Given the description of an element on the screen output the (x, y) to click on. 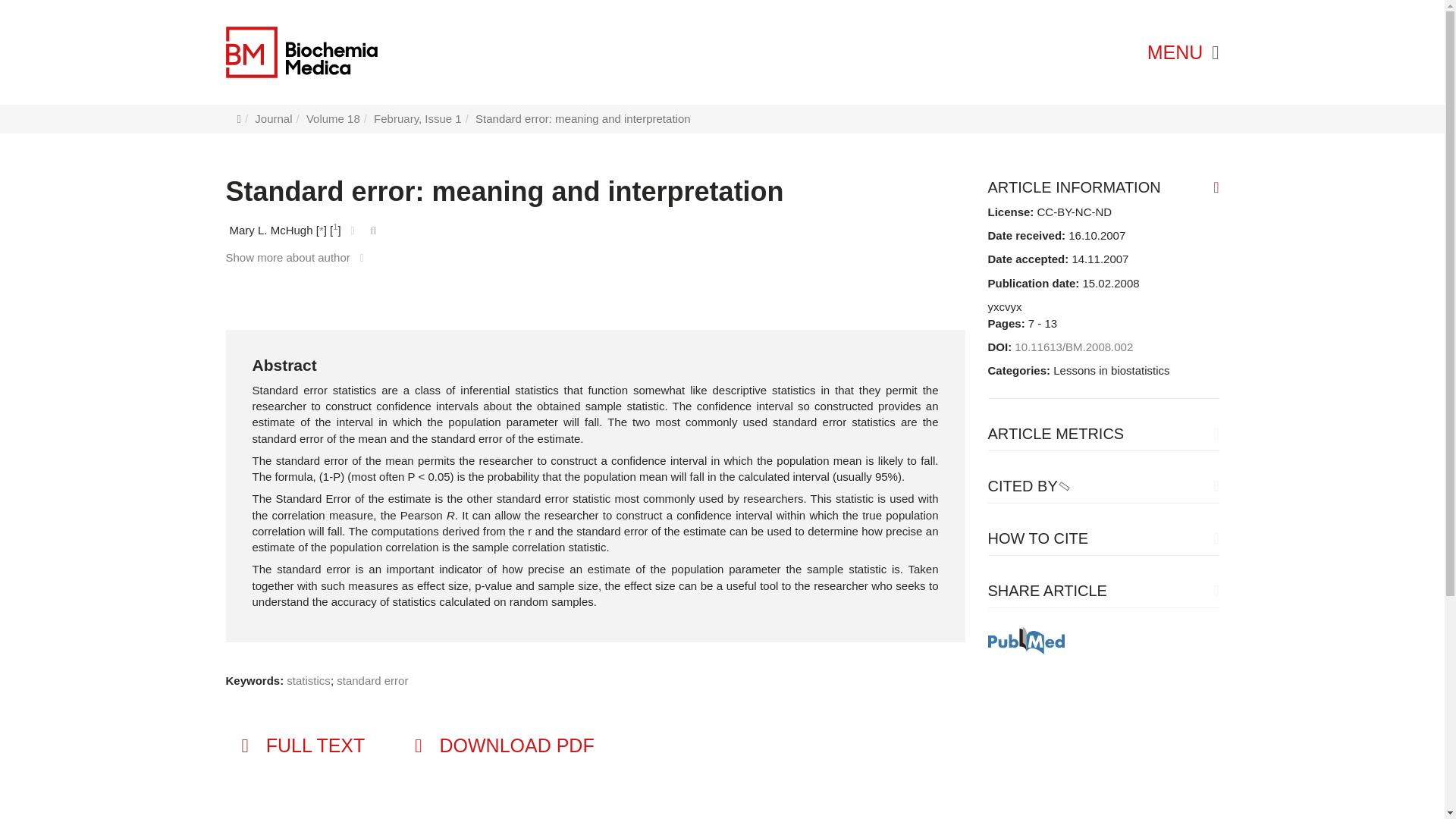
Show more about author (298, 256)
Biochemia Medica (301, 51)
standard error (371, 680)
February, Issue 1 (417, 118)
ARTICLE INFORMATION (1102, 187)
FULL TEXT (301, 746)
statistics (308, 680)
Journal (273, 118)
Search articles by keyword: statistics (308, 680)
Volume 18 (332, 118)
MENU (1183, 52)
Biochemia Medica (341, 51)
Search articles by keyword: standard error (371, 680)
DOWNLOAD PDF (501, 746)
